Given the description of an element on the screen output the (x, y) to click on. 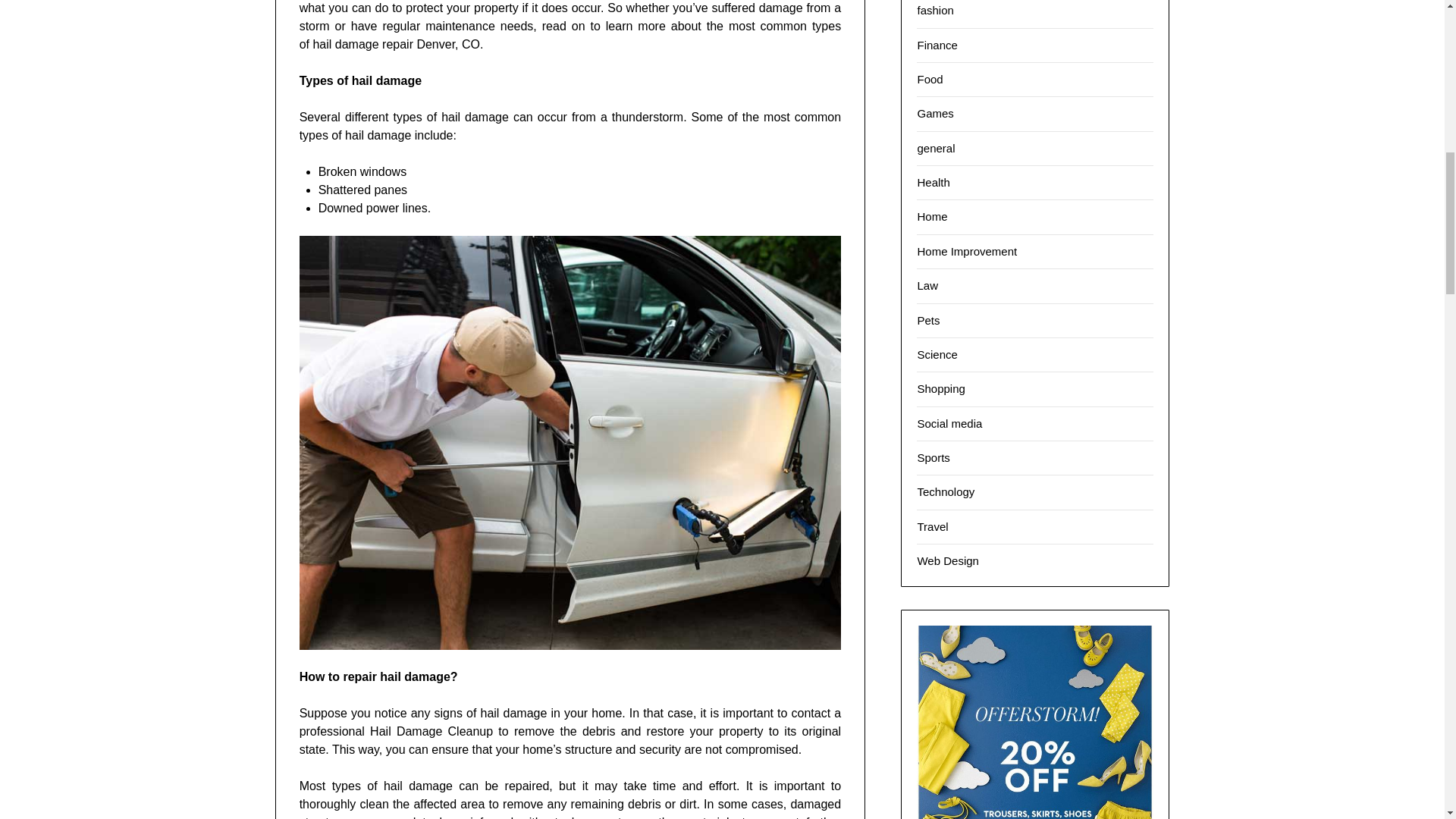
Shopping (940, 388)
Social media (949, 422)
Home (932, 215)
Science (936, 354)
Health (933, 182)
Pets (928, 319)
Food (929, 78)
Technology (945, 491)
Finance (936, 43)
Home Improvement (966, 250)
